Given the description of an element on the screen output the (x, y) to click on. 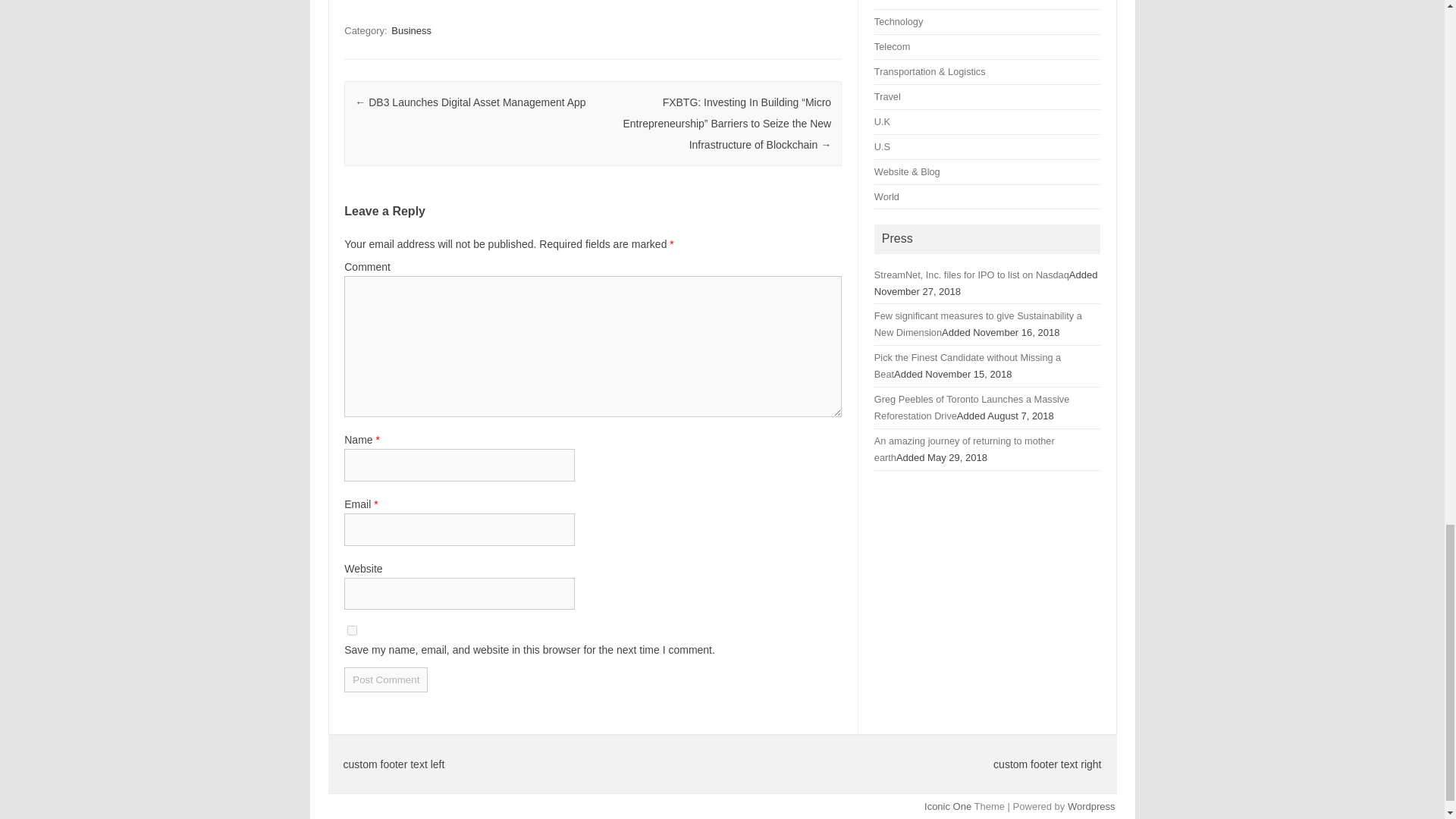
Business (411, 30)
Post Comment (385, 679)
yes (351, 630)
Post Comment (385, 679)
